Given the description of an element on the screen output the (x, y) to click on. 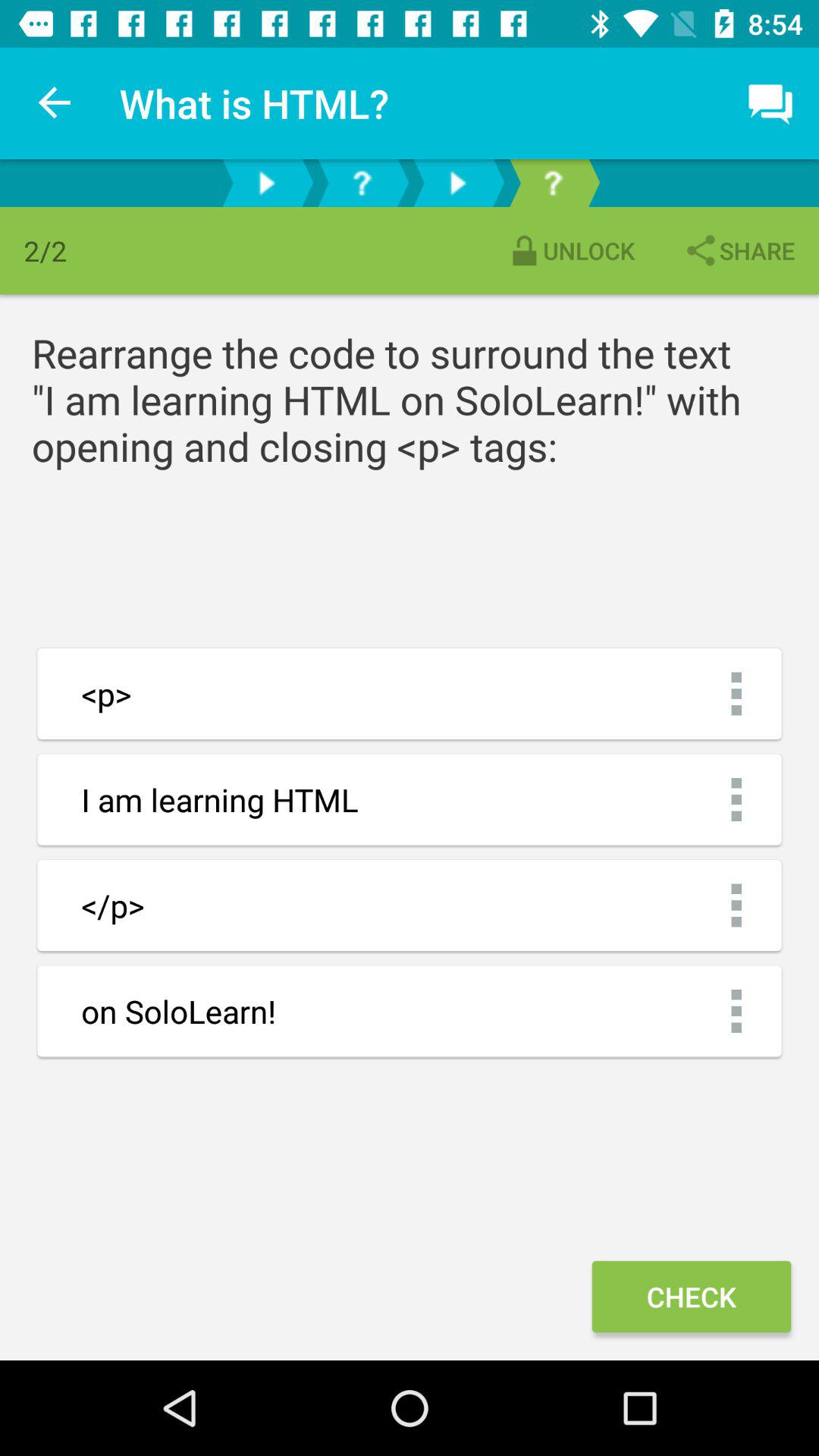
select help option (361, 183)
